Given the description of an element on the screen output the (x, y) to click on. 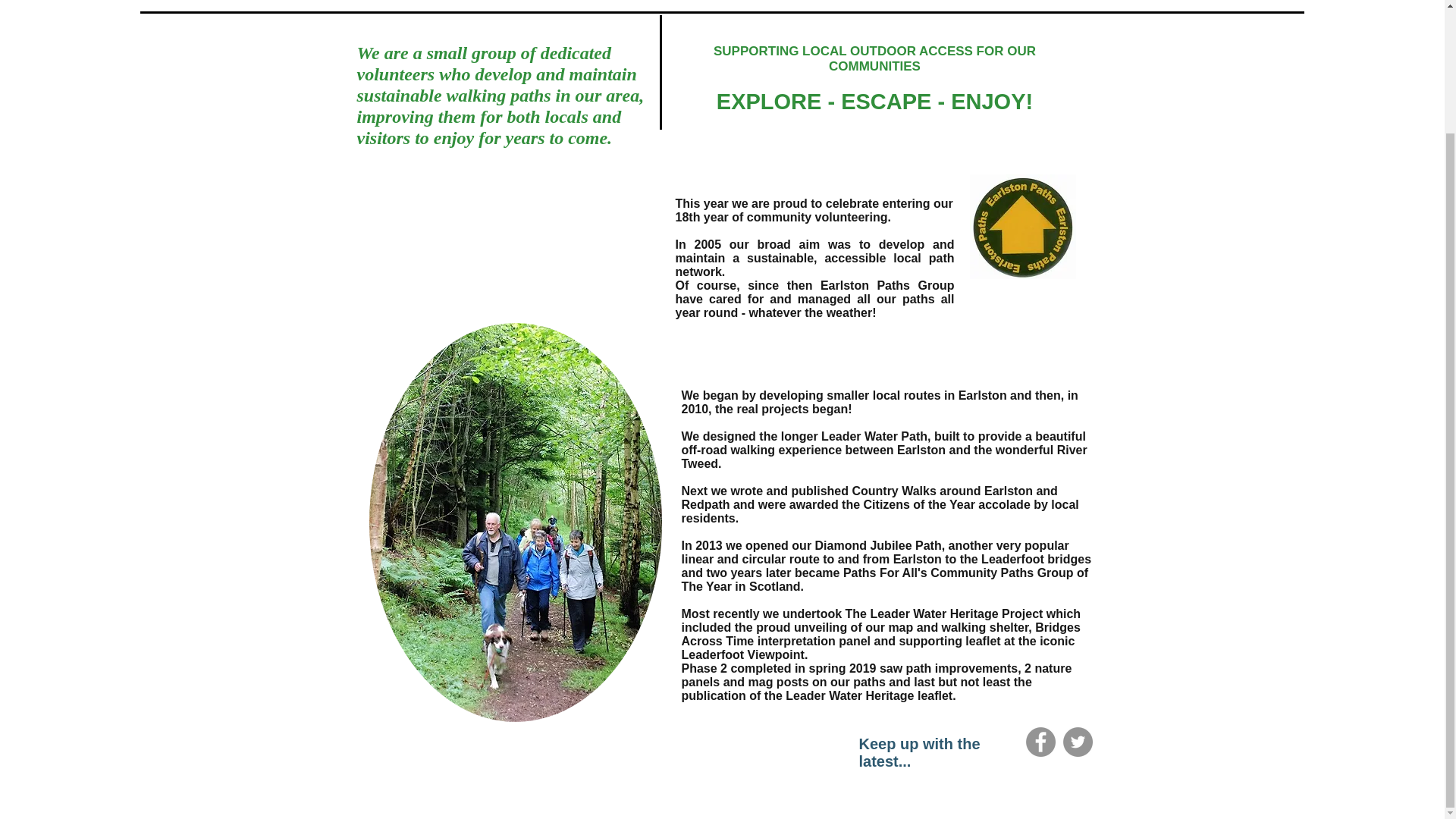
Publications (880, 1)
Contact Us (981, 1)
Gallery (448, 1)
Projects (786, 1)
Home (379, 1)
Latest News (537, 1)
